Given the description of an element on the screen output the (x, y) to click on. 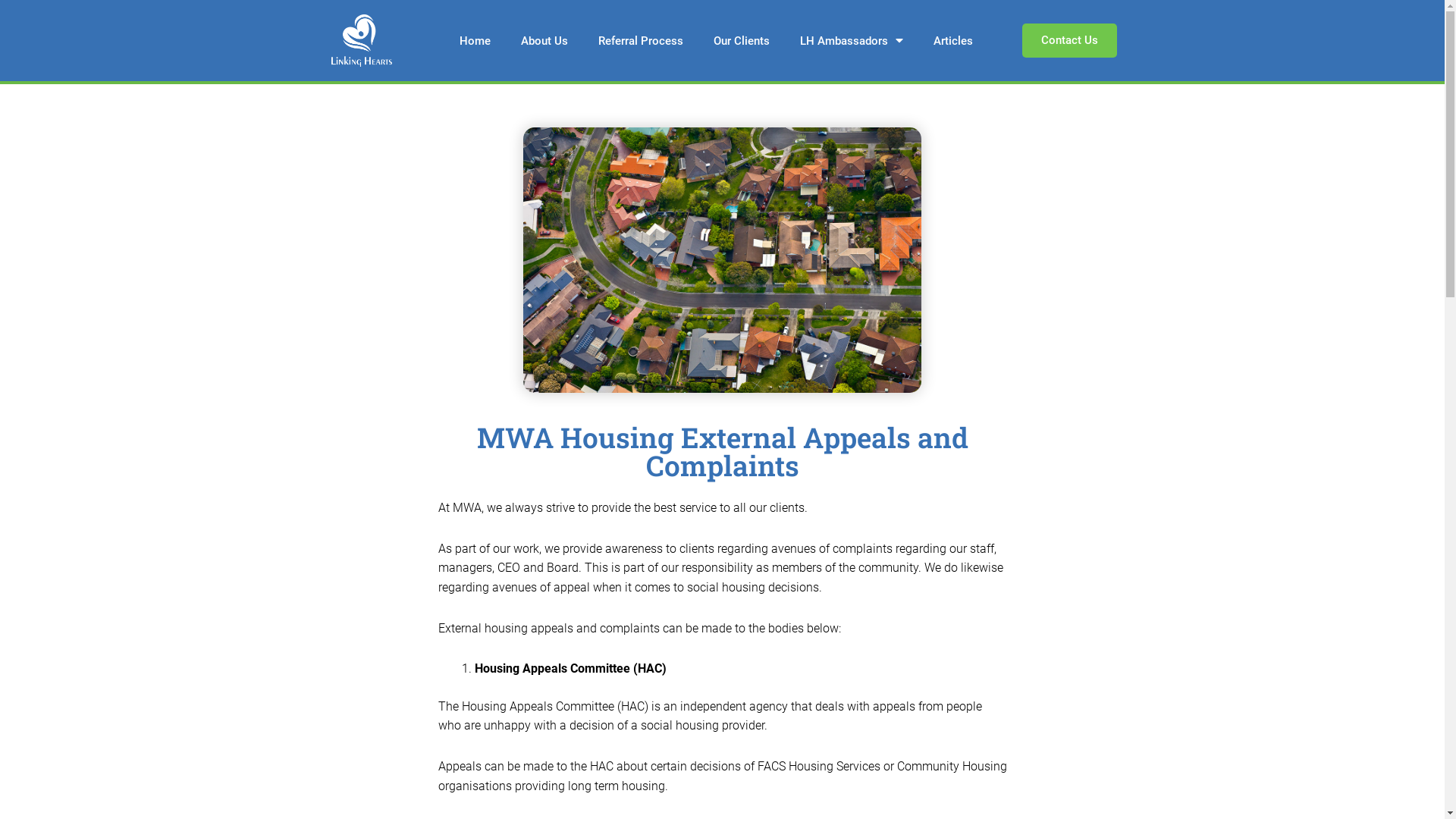
About Us Element type: text (544, 40)
Referral Process Element type: text (640, 40)
Articles Element type: text (953, 40)
Our Clients Element type: text (741, 40)
Home Element type: text (474, 40)
LH Ambassadors Element type: text (851, 40)
Contact Us Element type: text (1069, 40)
